Given the description of an element on the screen output the (x, y) to click on. 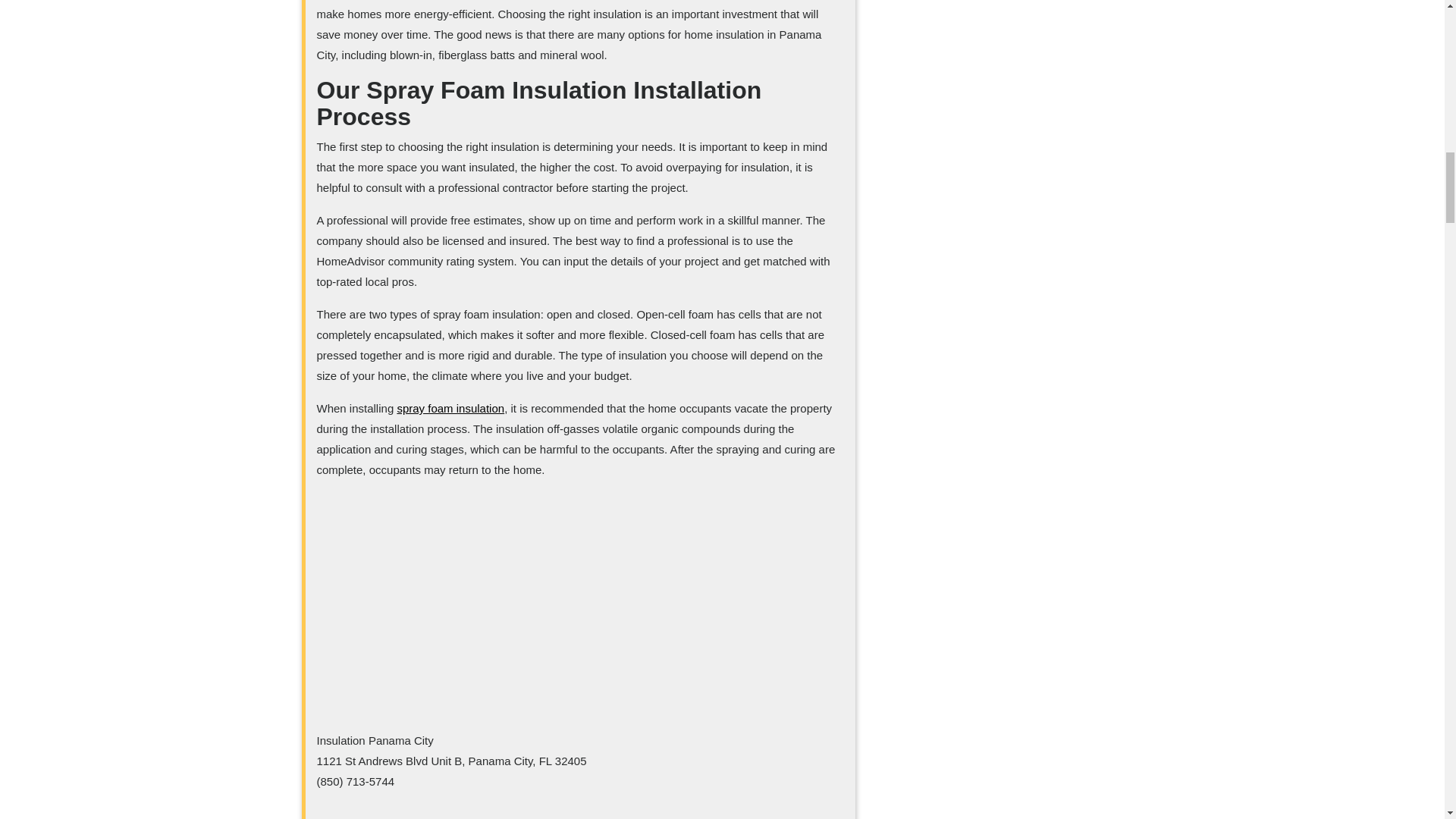
spray foam insulation (449, 408)
